Given the description of an element on the screen output the (x, y) to click on. 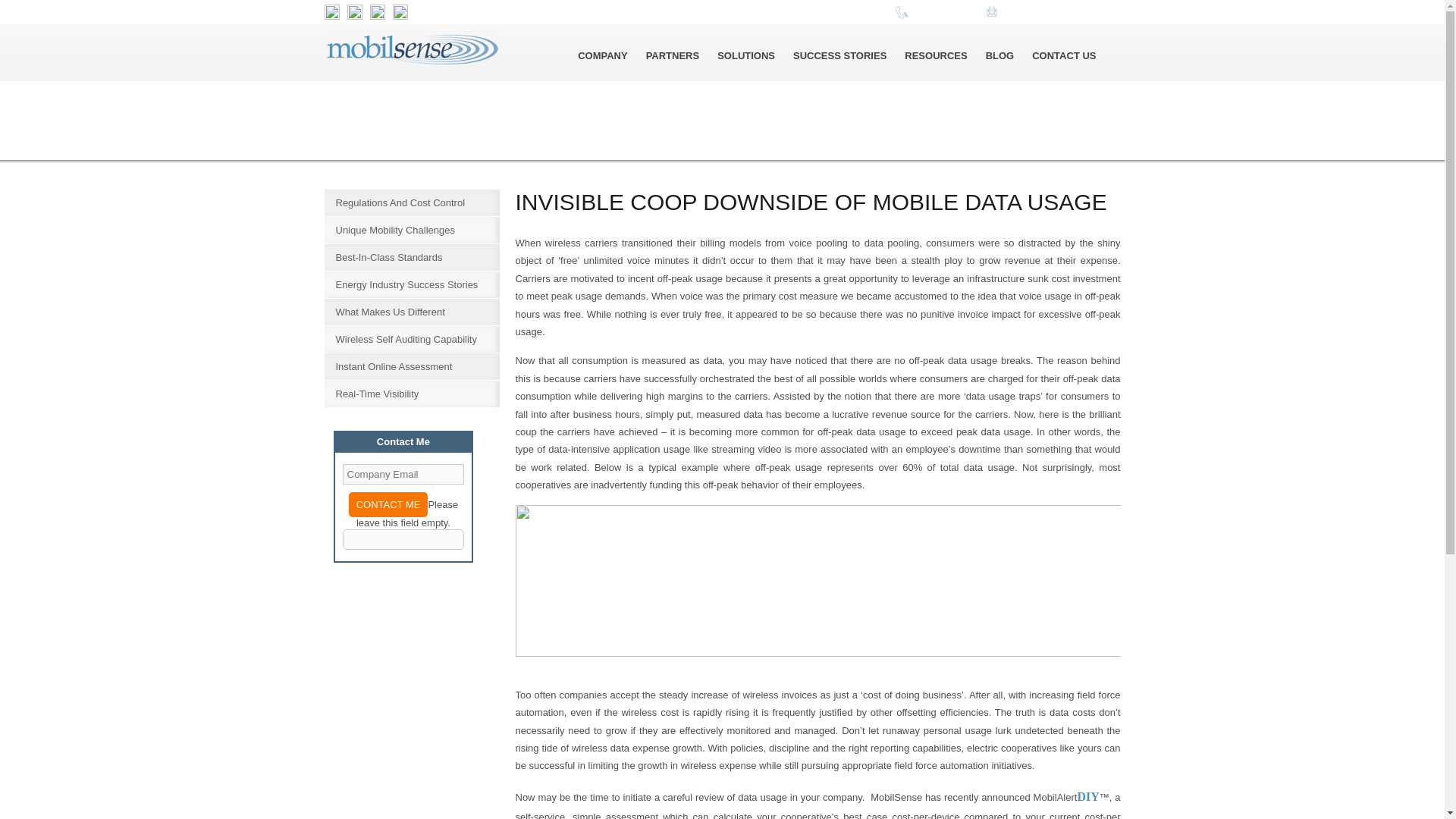
PARTNERS (673, 57)
COMPANY (602, 57)
RESOURCES (935, 57)
SUCCESS STORIES (839, 57)
Best-In-Class Standards (417, 257)
Energy Industry Success Stories (417, 284)
What Makes Us Different (417, 311)
Instant Online Assessment (417, 366)
CONTACT US (1064, 57)
Wireless Self Auditing Capability (417, 338)
